Given the description of an element on the screen output the (x, y) to click on. 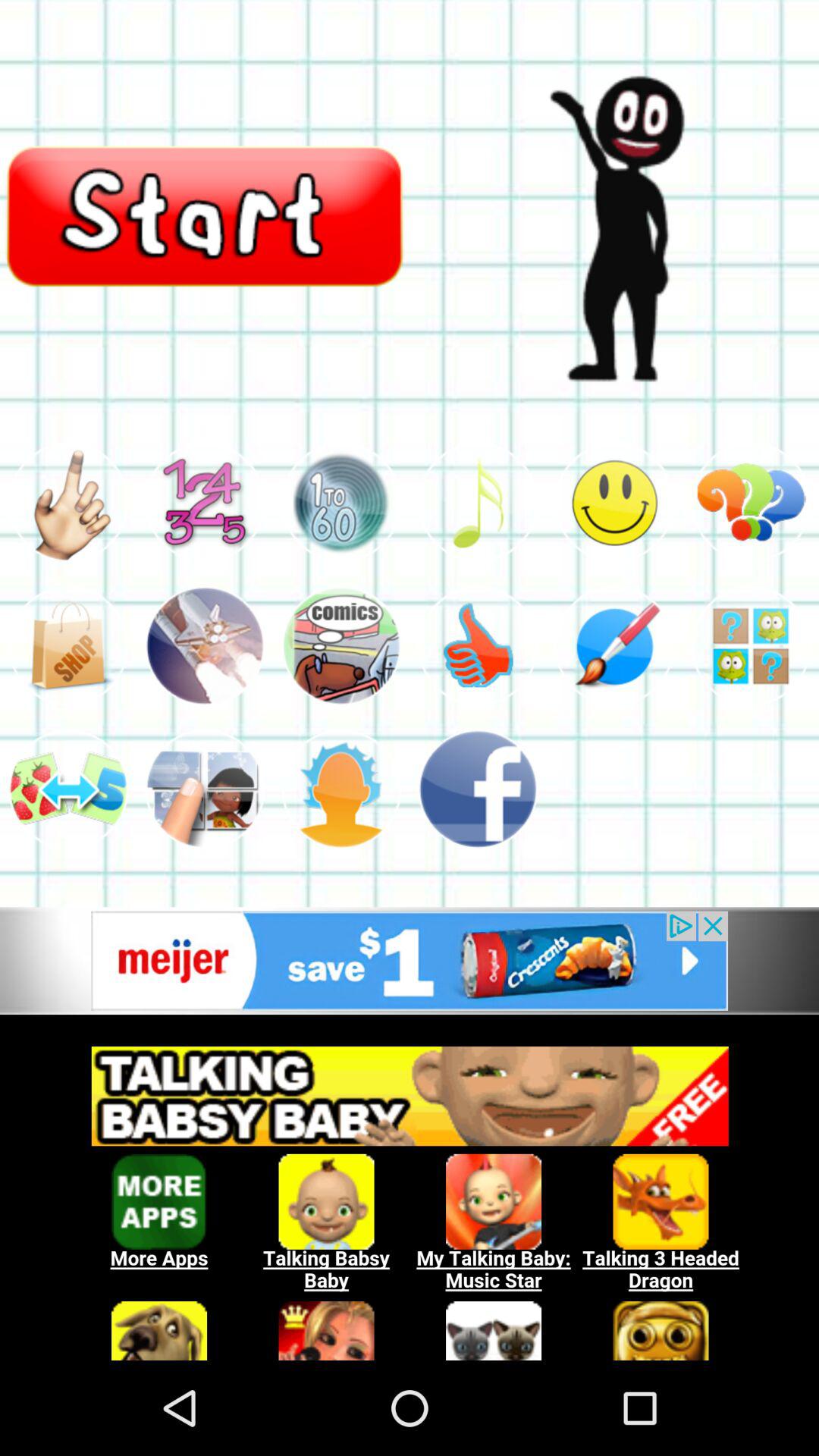
select this option (204, 789)
